Given the description of an element on the screen output the (x, y) to click on. 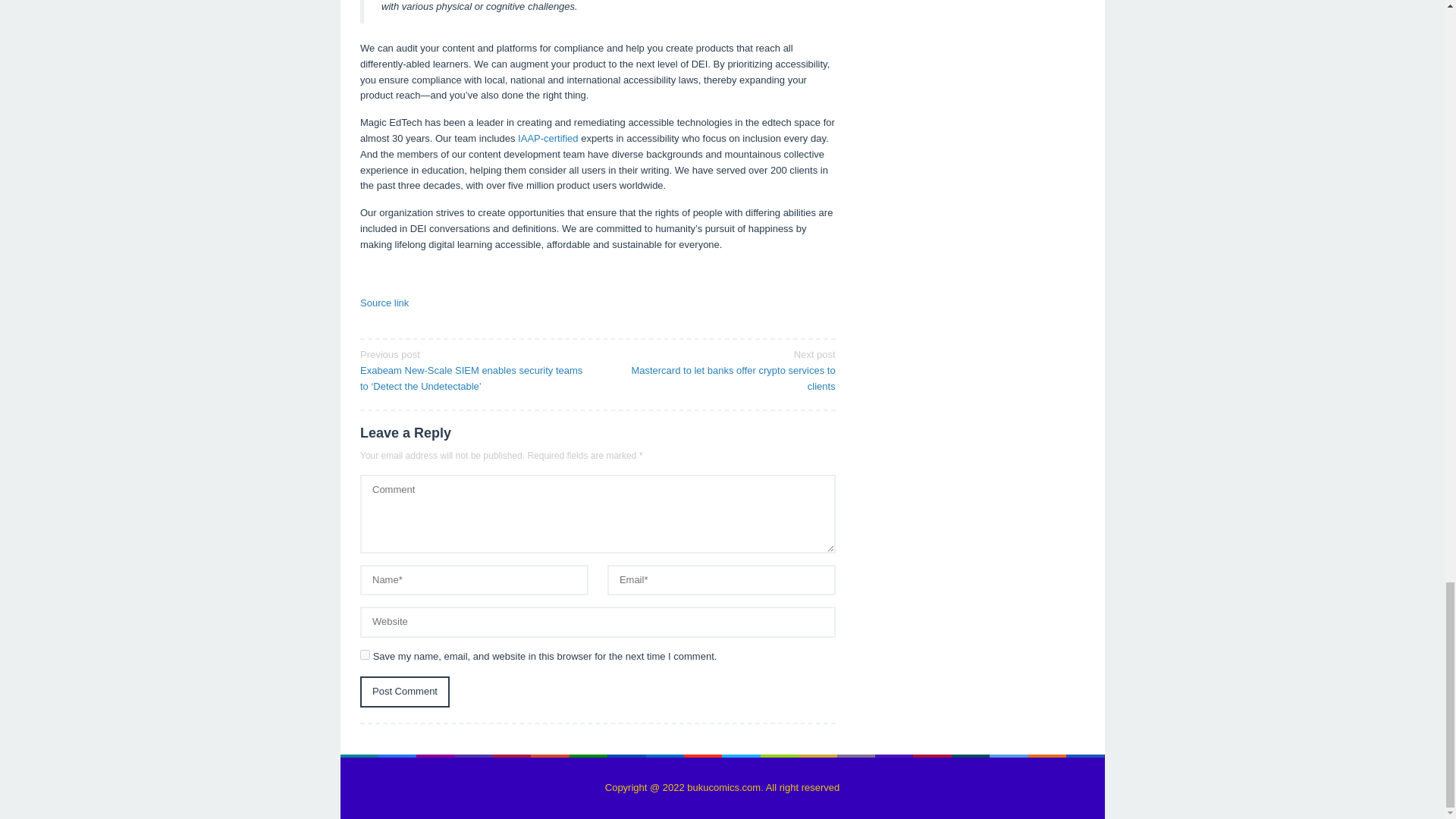
Source link (384, 302)
IAAP-certified (548, 138)
Post Comment (404, 691)
yes (364, 655)
Post Comment (404, 691)
